Given the description of an element on the screen output the (x, y) to click on. 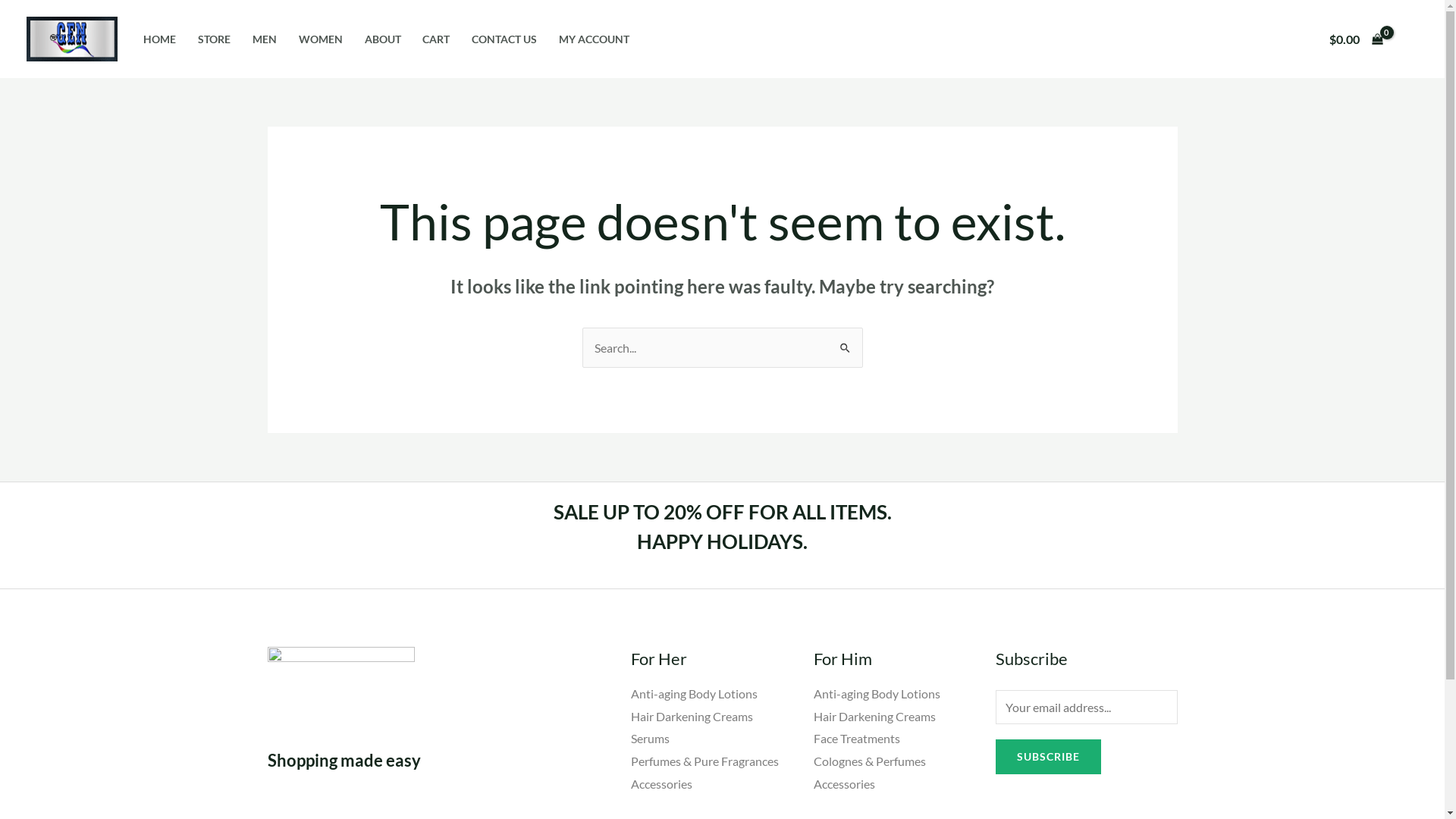
Hair Darkening Creams Element type: text (691, 716)
MEN Element type: text (264, 38)
Serums Element type: text (649, 738)
Accessories Element type: text (661, 783)
Face Treatments Element type: text (856, 738)
HAPPY HOLIDAYS. Element type: text (722, 541)
MY ACCOUNT Element type: text (593, 38)
Colognes & Perfumes Element type: text (869, 760)
SUBSCRIBE Element type: text (1048, 756)
ABOUT Element type: text (382, 38)
Accessories Element type: text (844, 783)
Search Element type: text (845, 342)
STORE Element type: text (214, 38)
CART Element type: text (436, 38)
SALE UP TO 20% OFF FOR ALL ITEMS. Element type: text (722, 511)
Perfumes & Pure Fragrances Element type: text (704, 760)
Anti-aging Body Lotions Element type: text (693, 693)
CONTACT US Element type: text (504, 38)
$0.00 Element type: text (1355, 39)
HOME Element type: text (159, 38)
Hair Darkening Creams Element type: text (874, 716)
Anti-aging Body Lotions Element type: text (876, 693)
WOMEN Element type: text (320, 38)
